Given the description of an element on the screen output the (x, y) to click on. 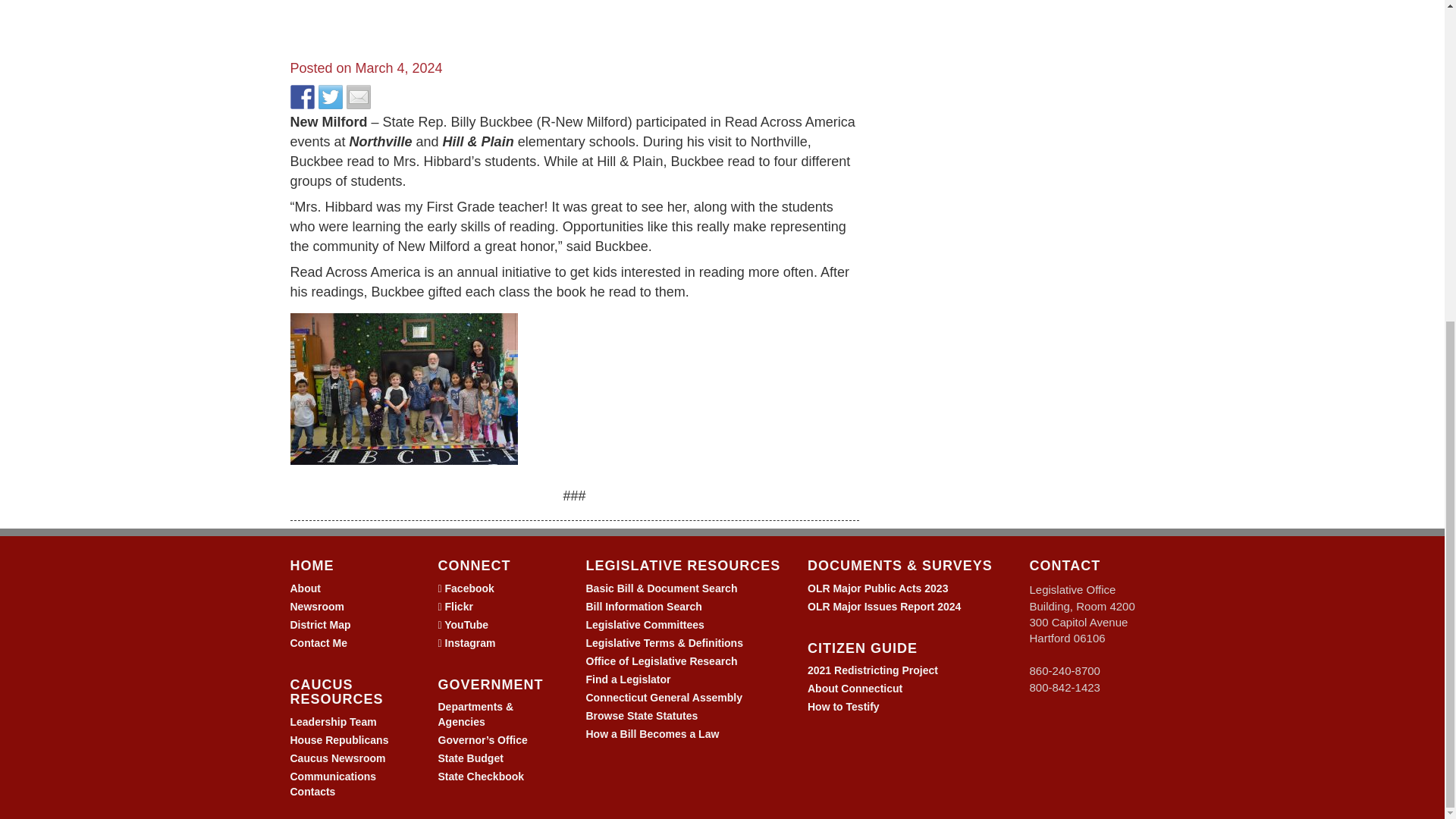
Share on Facebook (301, 96)
House Republicans (338, 739)
Flickr (457, 606)
Leadership Team (332, 721)
Contact Me (317, 643)
Newsroom (316, 606)
Communications Contacts (332, 783)
About (304, 588)
Facebook (468, 588)
Share by email (357, 96)
